Given the description of an element on the screen output the (x, y) to click on. 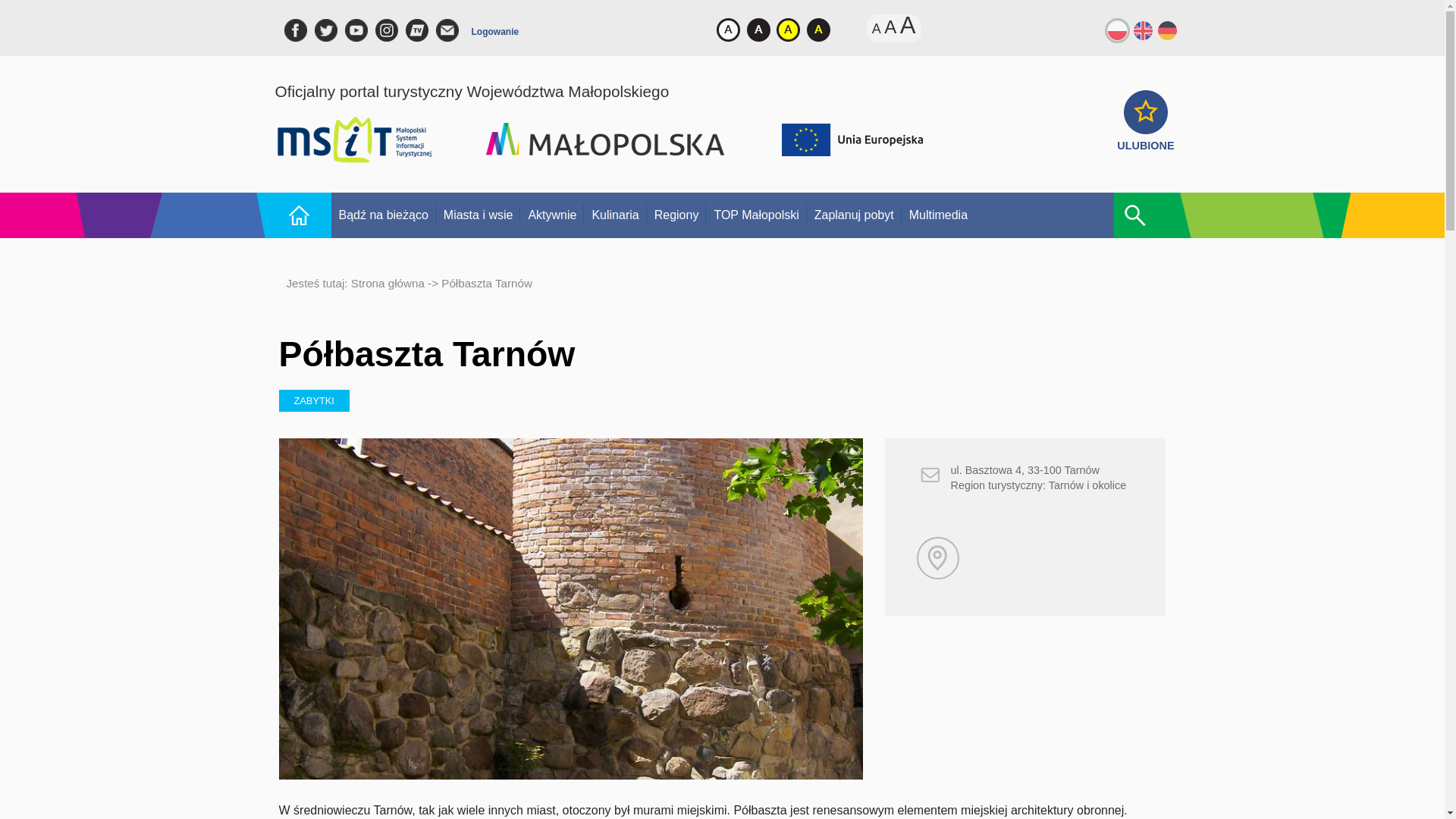
Logowanie (495, 35)
ULUBIONE (1144, 138)
Kulinaria (614, 215)
Aktywnie (551, 215)
Miasta i wsie (478, 215)
English (1142, 29)
Deutsch (1167, 29)
